Given the description of an element on the screen output the (x, y) to click on. 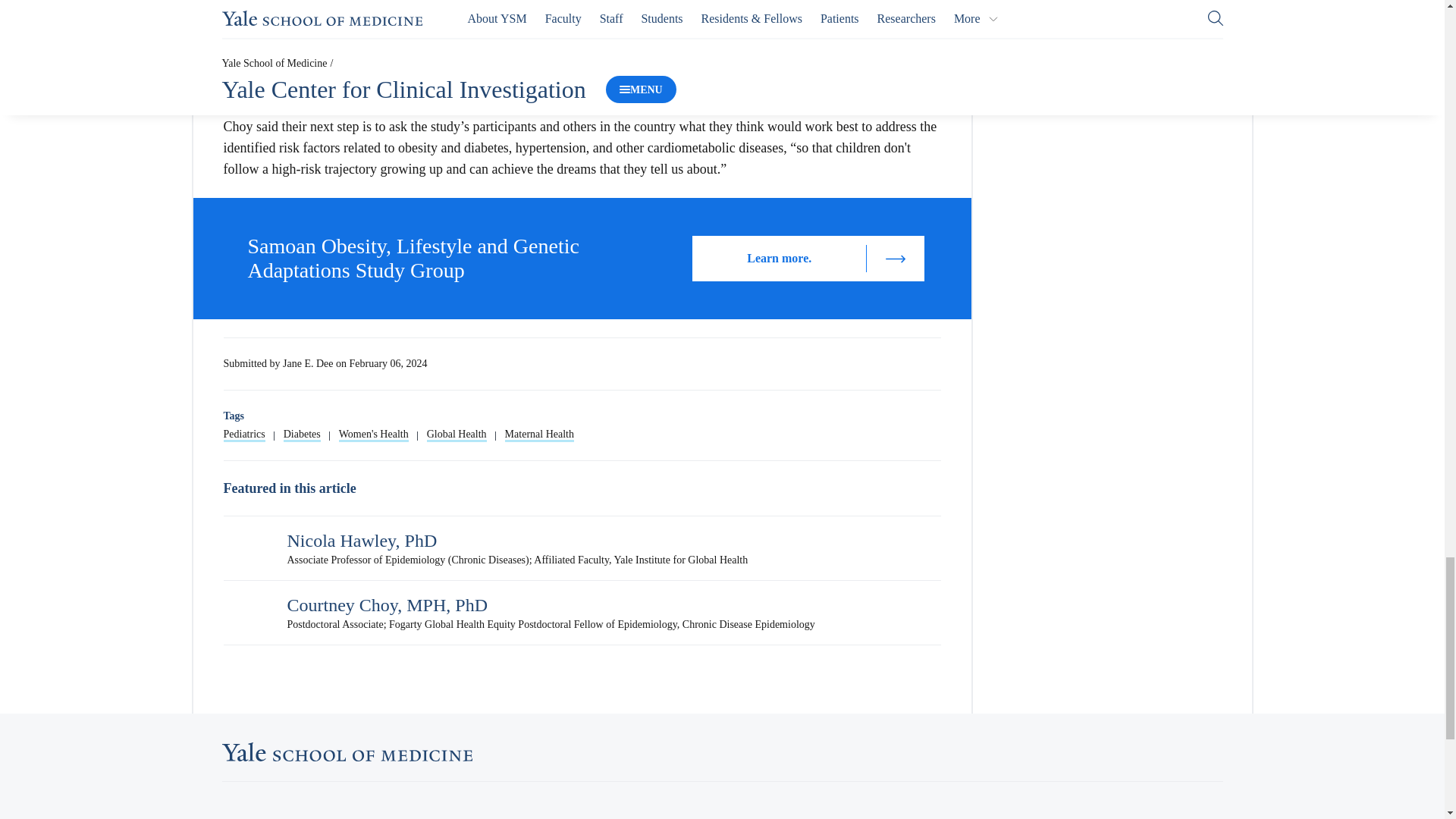
Yale School of Medicine (346, 751)
